Given the description of an element on the screen output the (x, y) to click on. 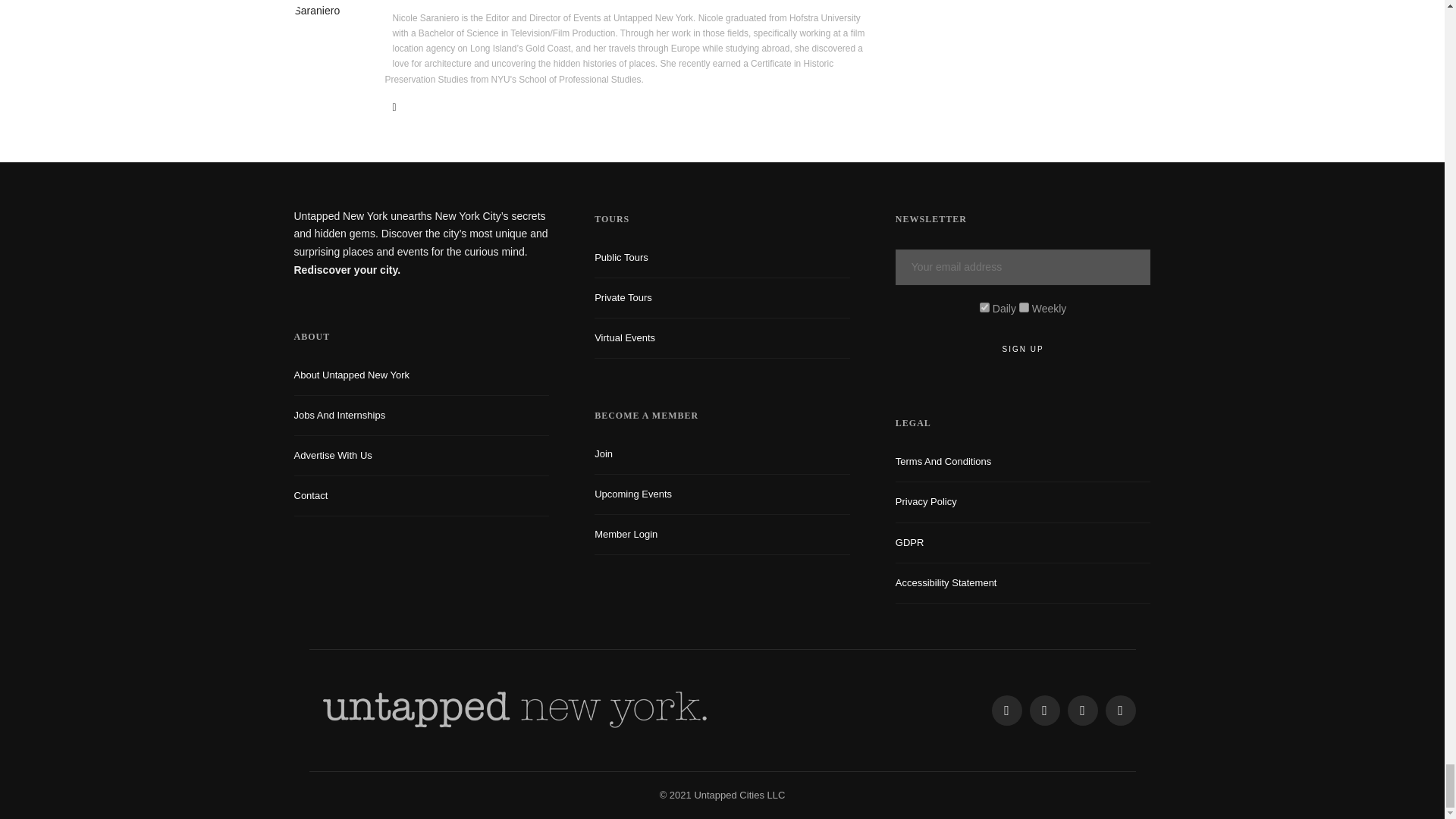
Sign up (1023, 349)
e99a09560c (984, 307)
7cff6a70fd (1024, 307)
